Given the description of an element on the screen output the (x, y) to click on. 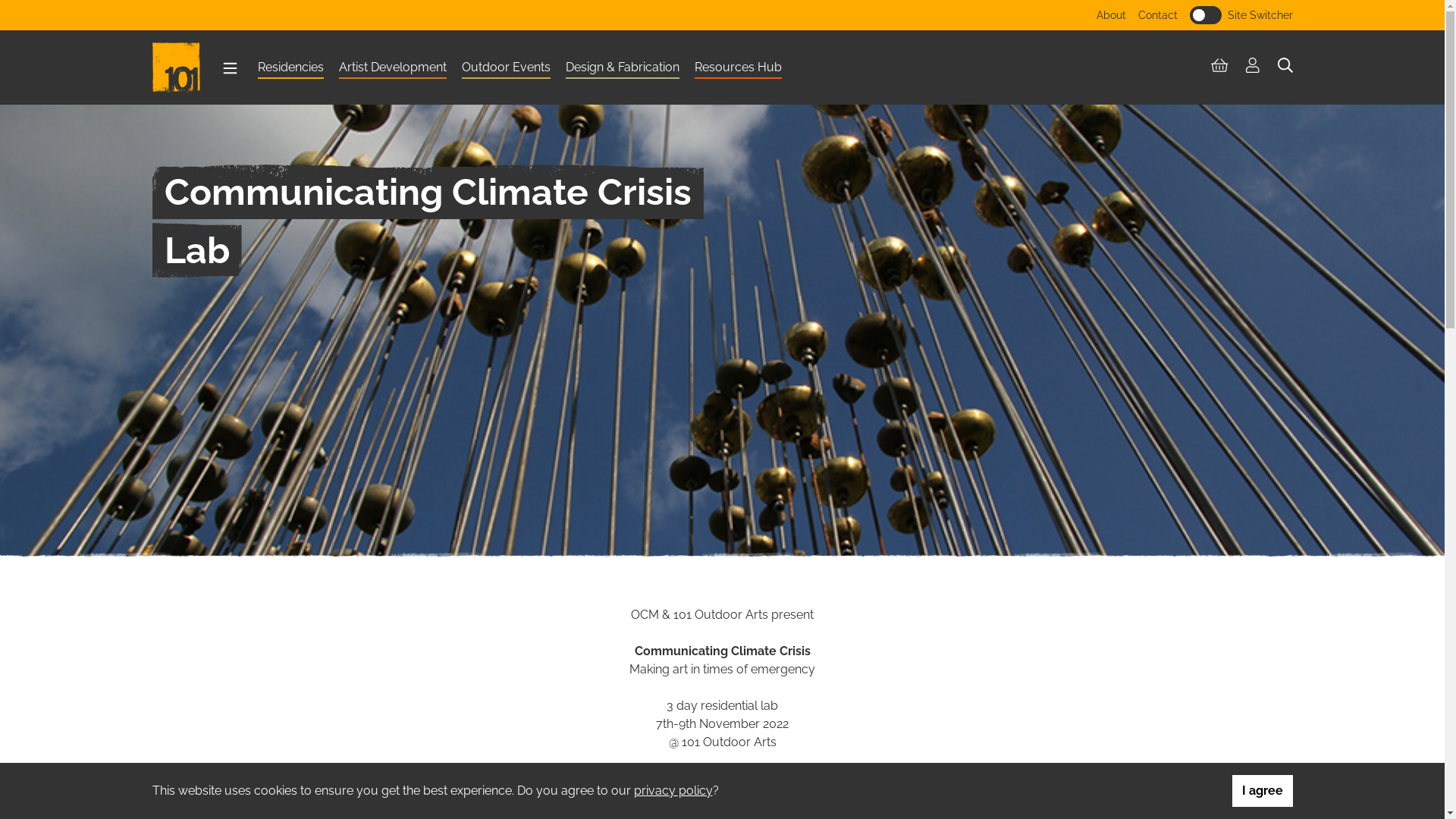
Resources Hub Element type: text (737, 68)
Visit 101 Outdoor Arts website Element type: text (822, 49)
Skip to main content Element type: text (11, 11)
I agree Element type: text (1261, 790)
Visit Corn Exchange Newbury website Element type: text (633, 49)
Menu Element type: text (228, 67)
Contact Element type: text (1156, 15)
Account Element type: text (1252, 65)
Visit The Base Greenham website Element type: text (734, 49)
Artist Development Element type: text (391, 68)
Search Element type: text (1284, 65)
Cart Element type: text (1218, 65)
privacy policy Element type: text (672, 790)
Residencies Element type: text (290, 68)
Design & Fabrication Element type: text (622, 68)
About Element type: text (1111, 15)
Outdoor Events Element type: text (505, 68)
